Given the description of an element on the screen output the (x, y) to click on. 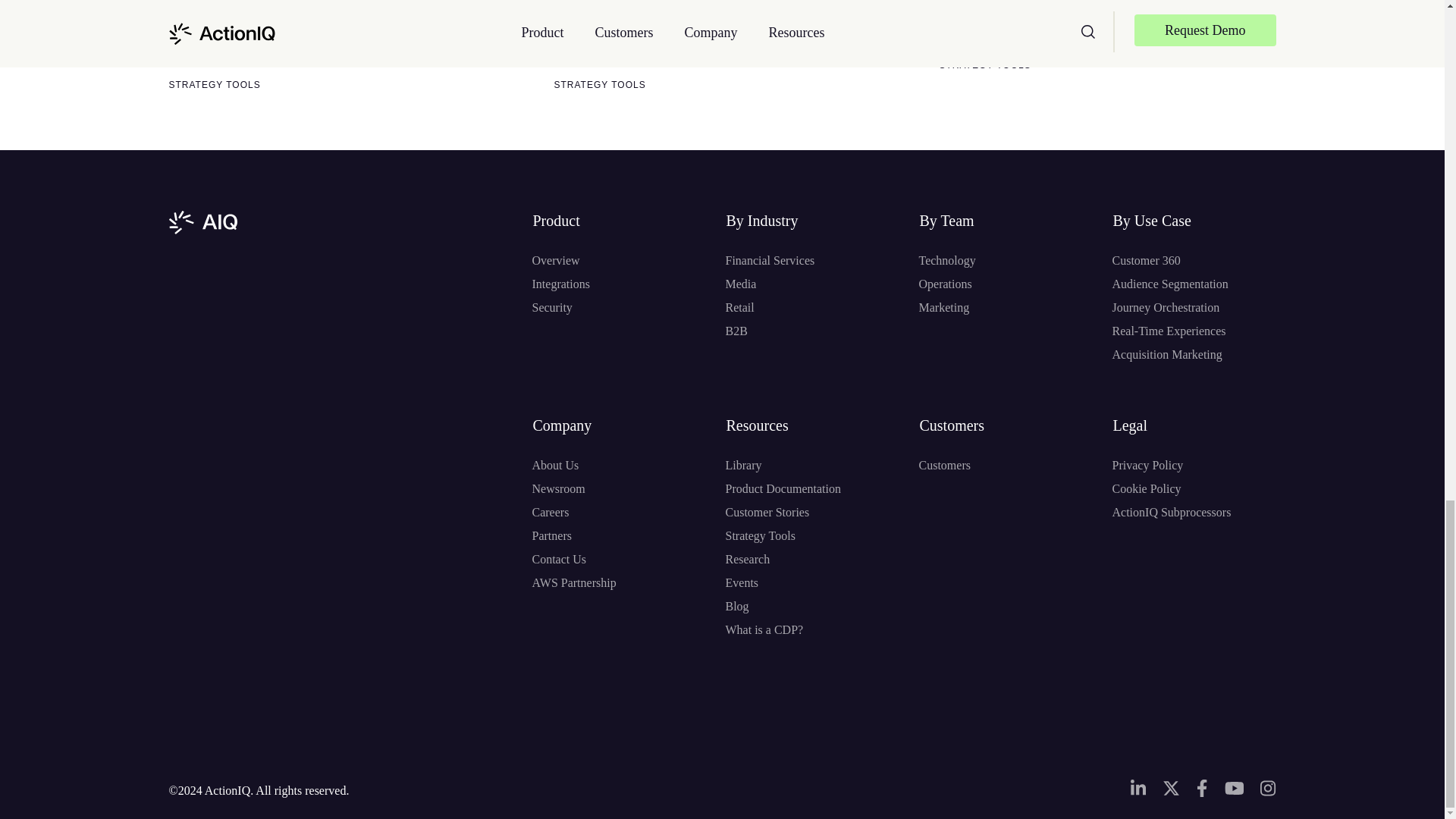
How to Build a Business Case for a Composable CDP (1103, 23)
How to Build a Business Case for a Composable CDP: Live! (260, 33)
